Given the description of an element on the screen output the (x, y) to click on. 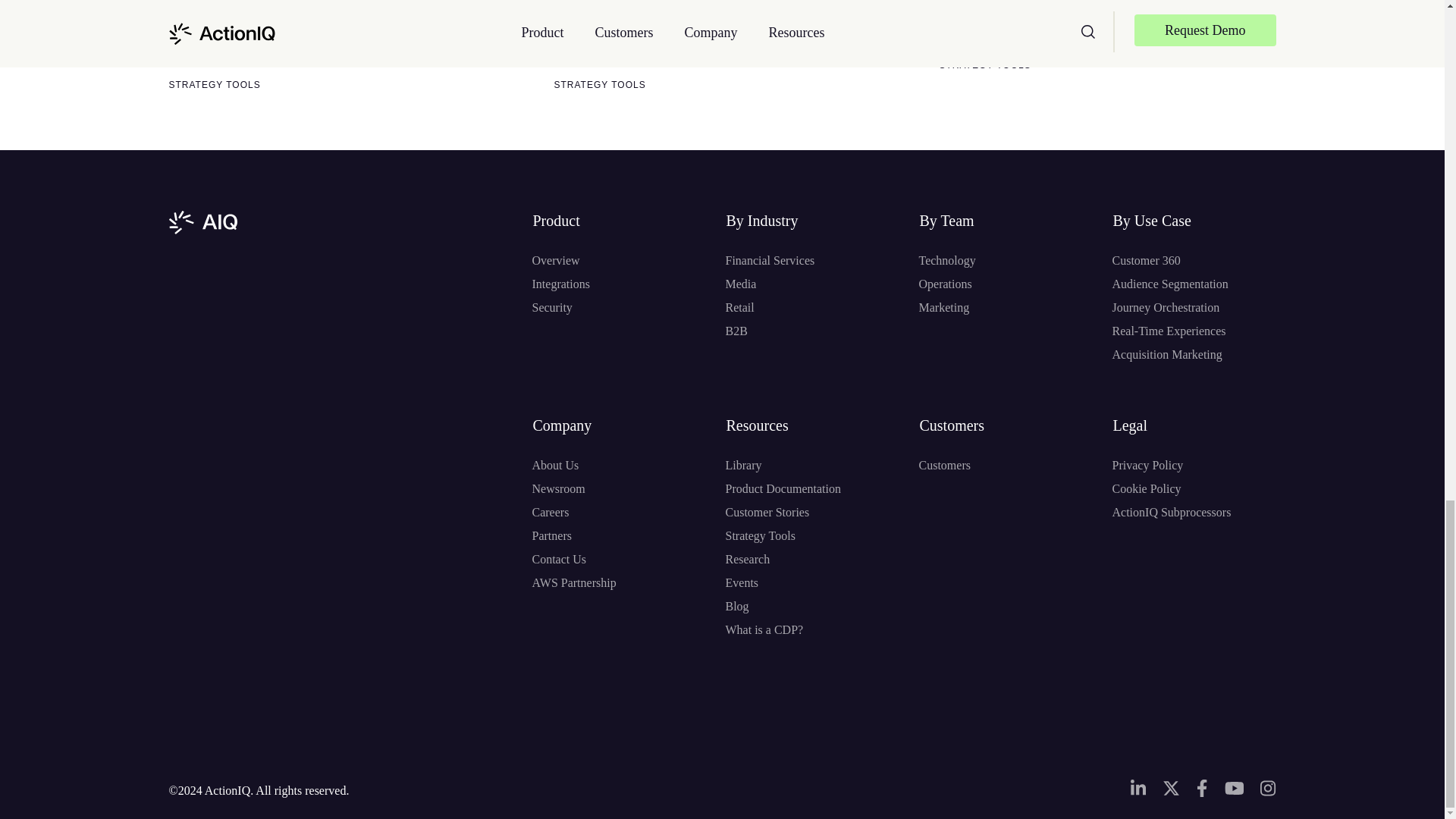
How to Build a Business Case for a Composable CDP (1103, 23)
How to Build a Business Case for a Composable CDP: Live! (260, 33)
